Given the description of an element on the screen output the (x, y) to click on. 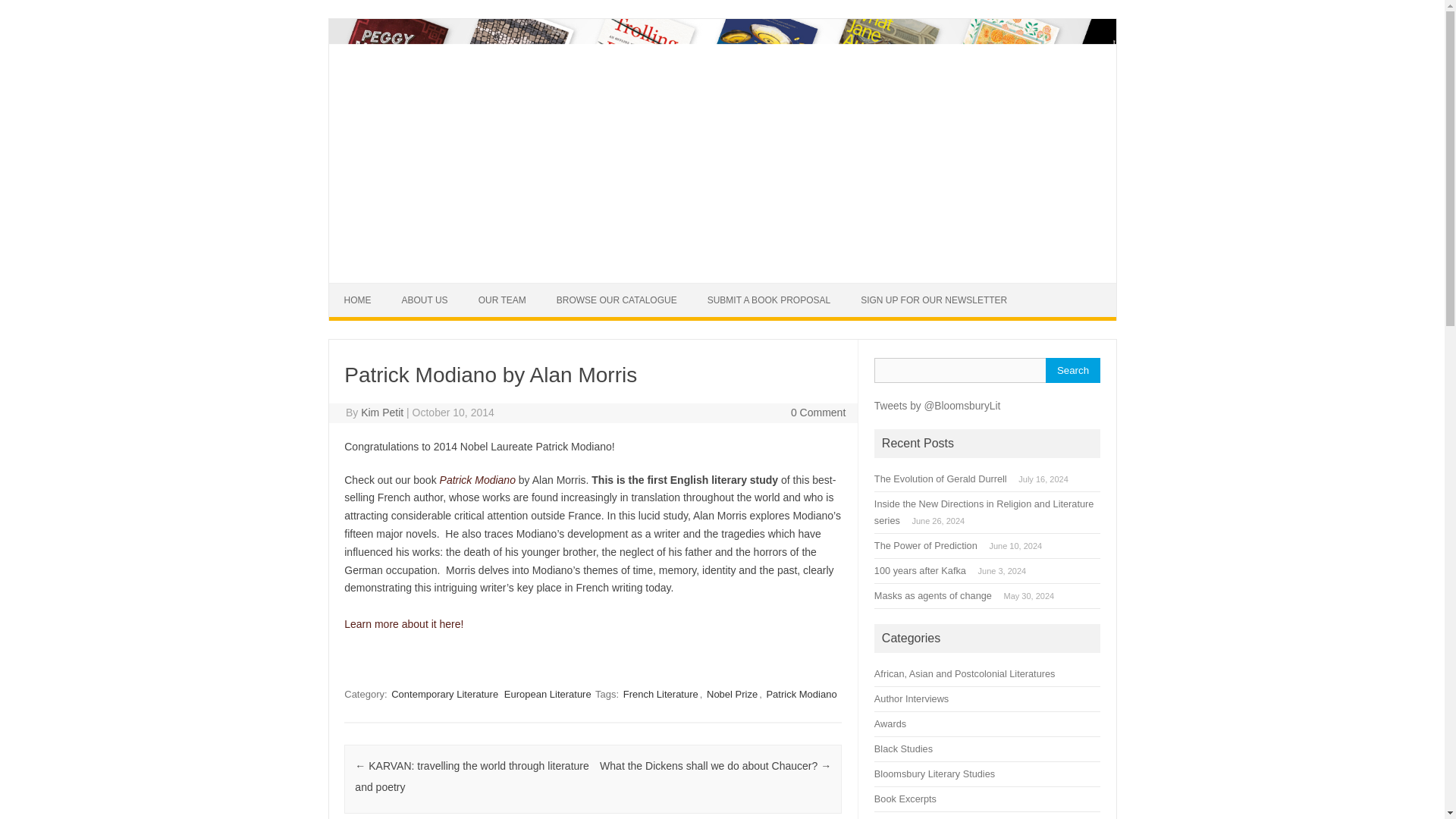
French Literature (660, 694)
BROWSE OUR CATALOGUE (617, 299)
Awards (890, 723)
Author Interviews (912, 698)
Bloomsbury Literary Studies Blog (722, 277)
Posts by Kim Petit (382, 412)
Contemporary Literature (444, 694)
The Evolution of Gerald Durrell (941, 478)
SUBMIT A BOOK PROPOSAL (769, 299)
Search (1072, 370)
Learn more about it here! (403, 623)
Book Excerpts (905, 798)
Patrick Modiano (477, 480)
European Literature (547, 694)
